Given the description of an element on the screen output the (x, y) to click on. 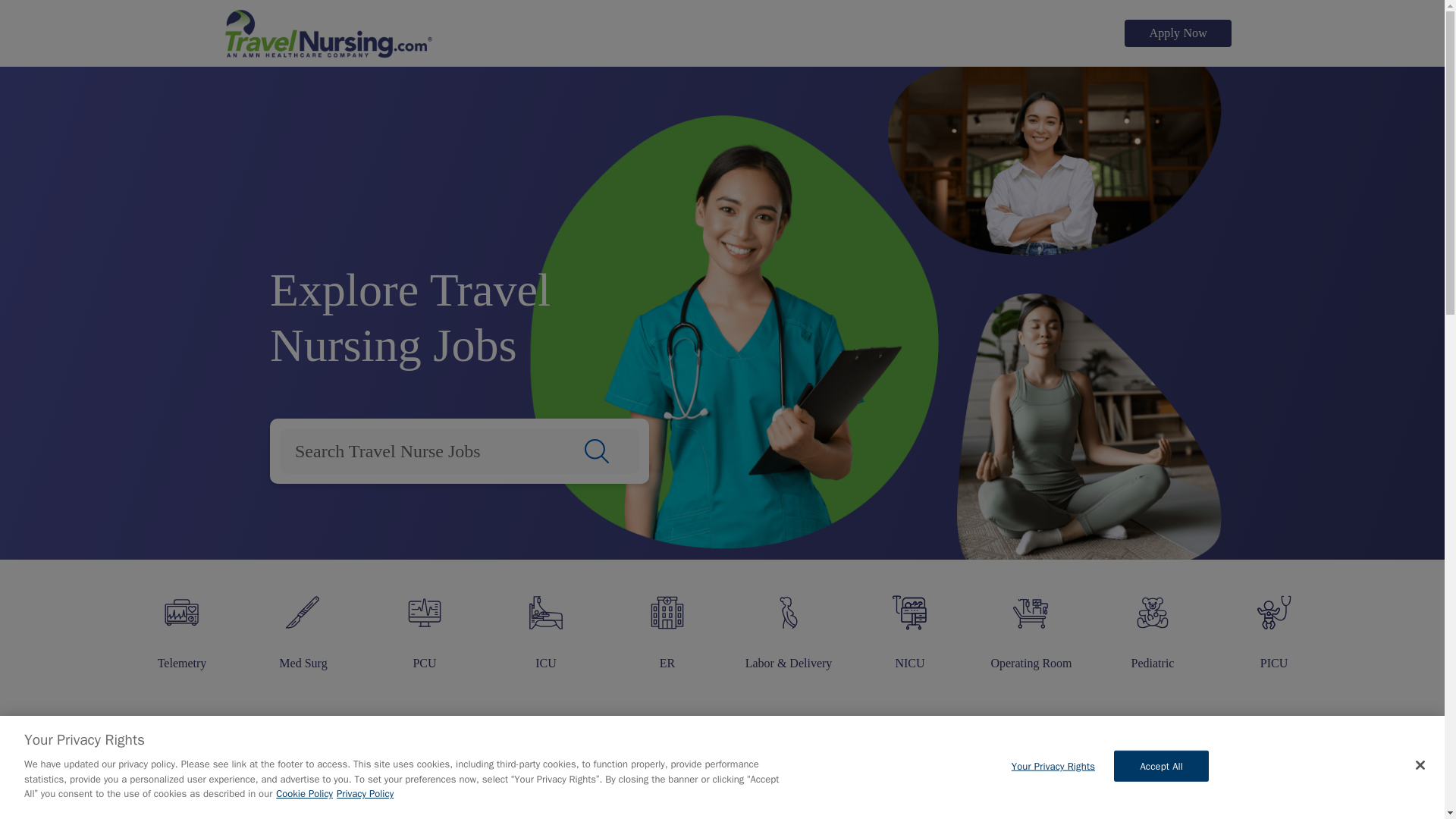
Apply Now (1177, 32)
